Given the description of an element on the screen output the (x, y) to click on. 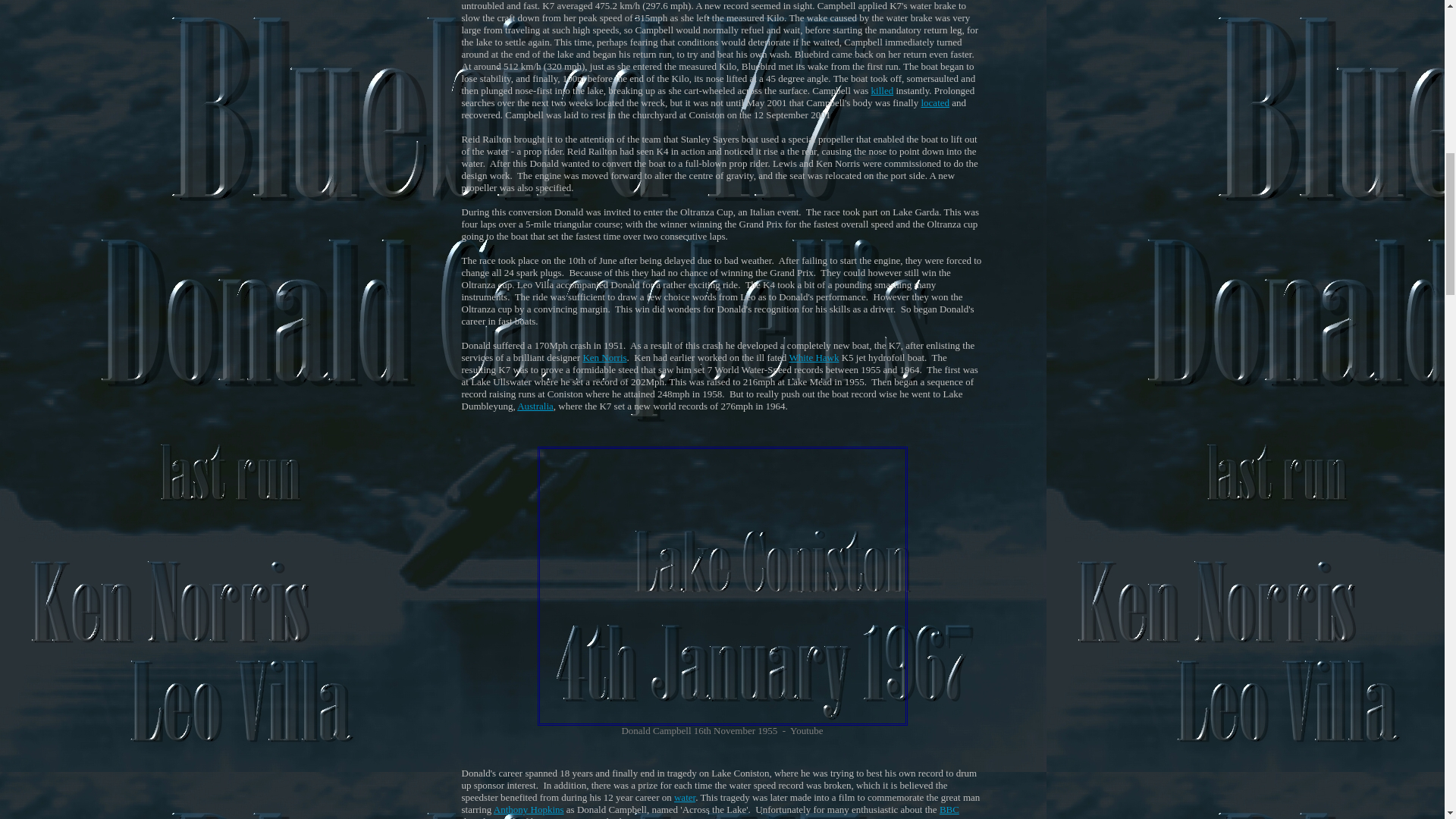
water (684, 797)
White Hawk (813, 357)
Australia (534, 405)
Anthony Hopkins (528, 808)
Ken Norris (604, 357)
BBC (949, 808)
killed (881, 90)
located (934, 102)
